Given the description of an element on the screen output the (x, y) to click on. 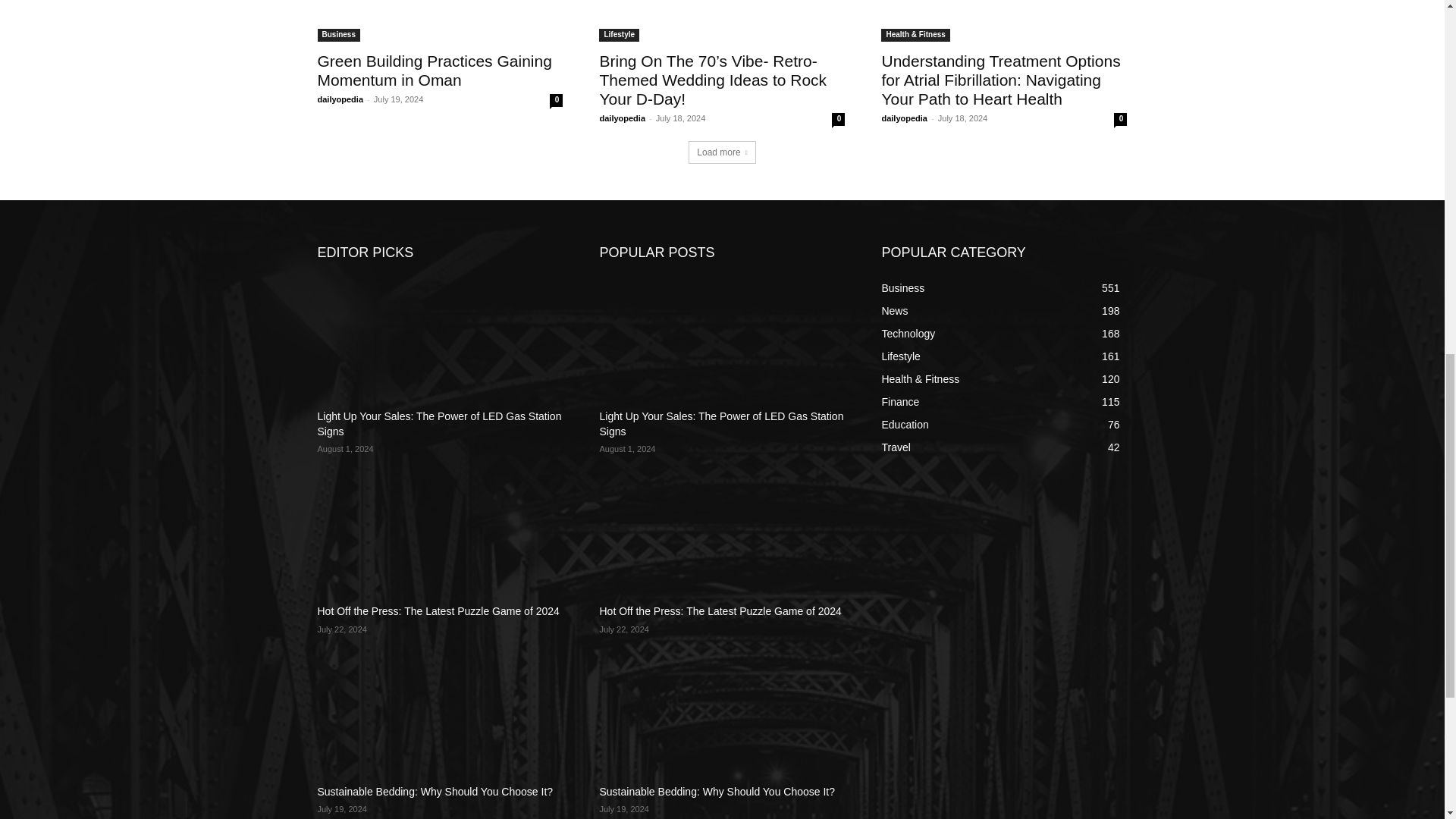
Green Building Practices Gaining Momentum in Oman (439, 20)
Green Building Practices Gaining Momentum in Oman (434, 70)
